Given the description of an element on the screen output the (x, y) to click on. 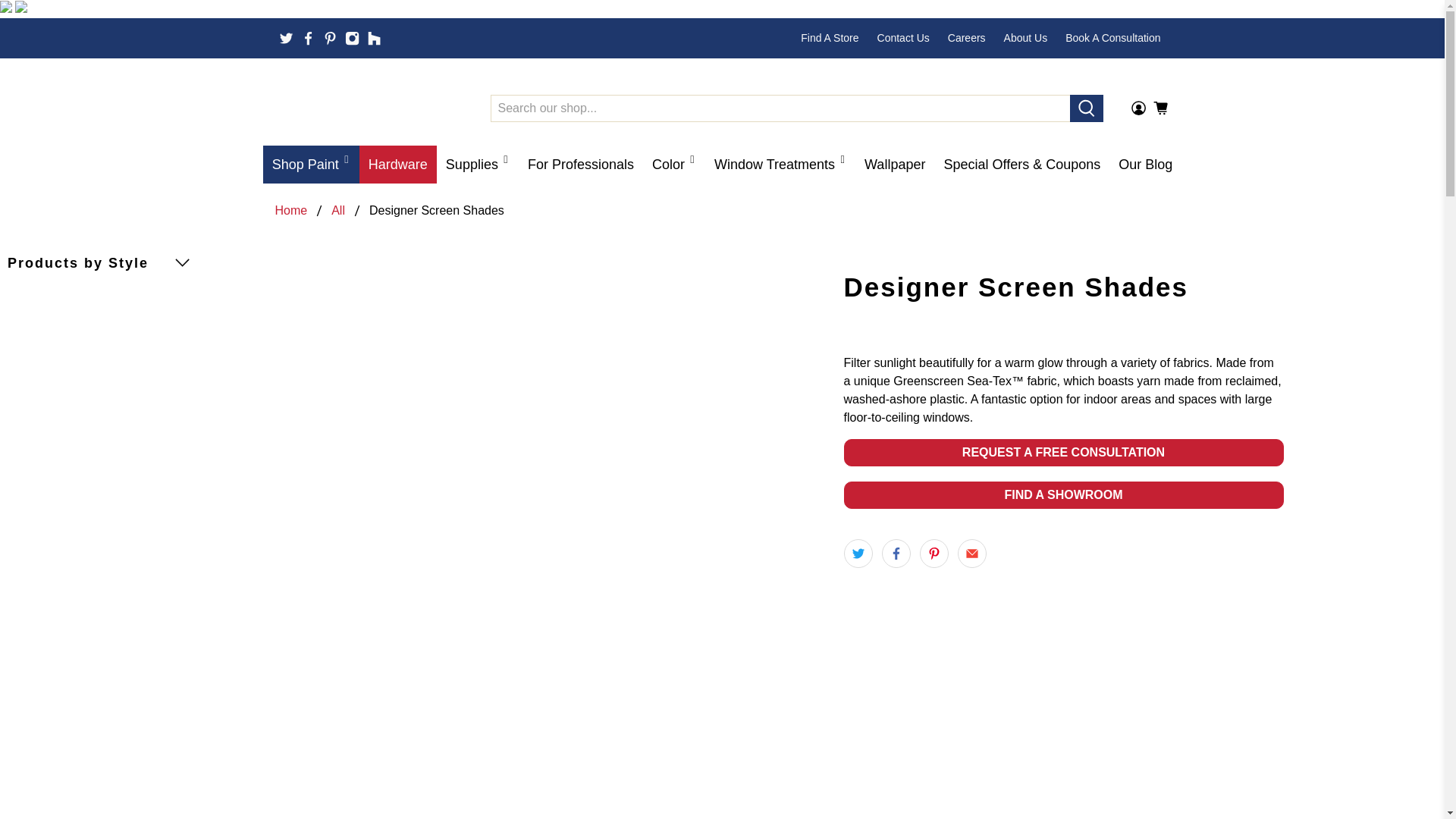
Contact Us (903, 38)
Wallpaper (895, 164)
Shop Paint (311, 164)
Supplies (477, 164)
Careers (966, 38)
Hardware (397, 164)
Book A Consultation (1113, 38)
Window Treatments (780, 164)
JC Licht on Houzz (373, 38)
Find A Store (829, 38)
